Given the description of an element on the screen output the (x, y) to click on. 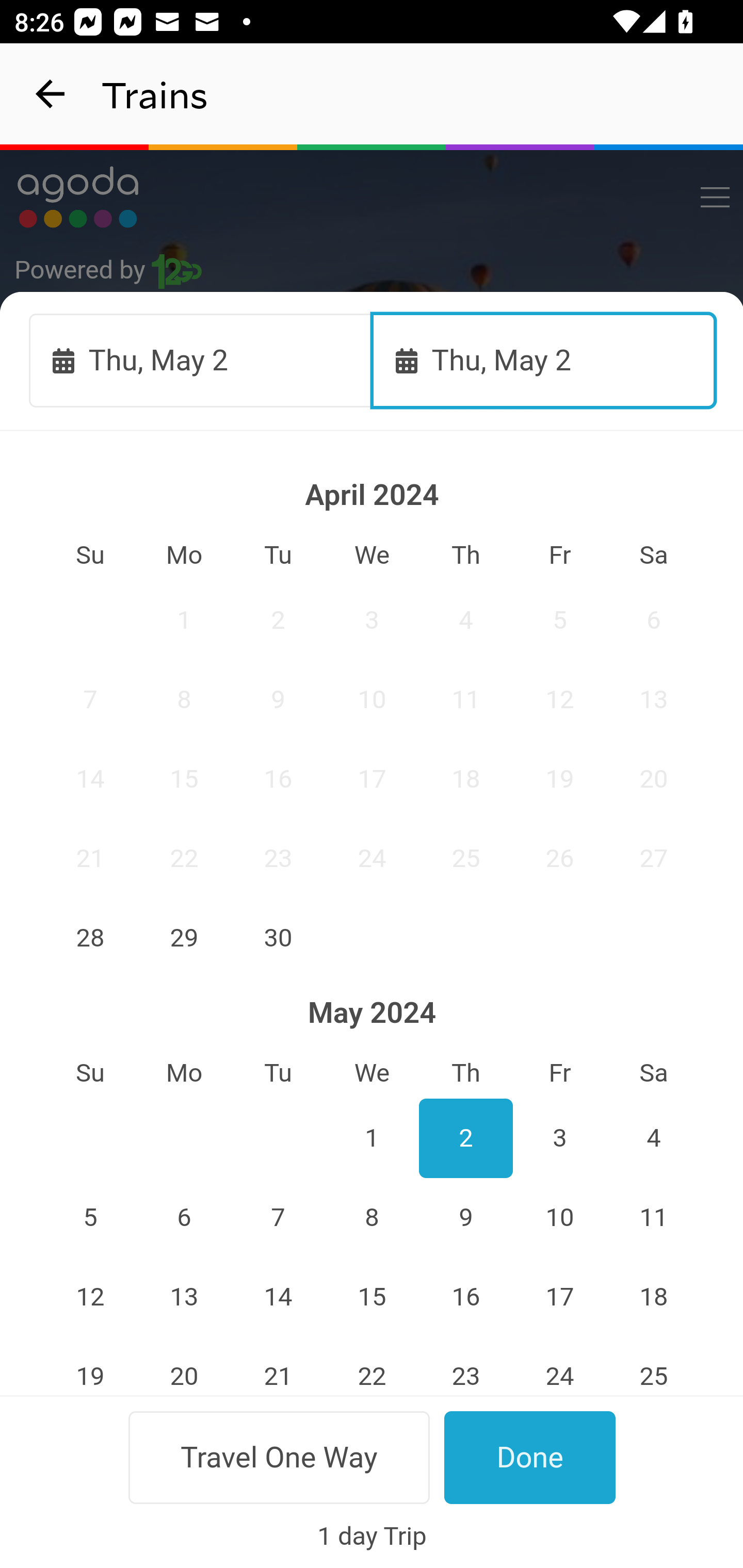
navigation_button (50, 93)
Thu, May 2 (200, 359)
Thu, May 2 (544, 359)
1 (184, 620)
2 (278, 620)
3 (372, 620)
4 (465, 620)
5 (559, 620)
6 (654, 620)
7 (90, 699)
8 (184, 699)
9 (278, 699)
10 (372, 699)
11 (465, 699)
12 (559, 699)
13 (654, 699)
14 (90, 779)
15 (184, 779)
16 (278, 779)
17 (372, 779)
18 (465, 779)
19 (559, 779)
20 (654, 779)
21 (90, 858)
22 (184, 858)
23 (278, 858)
24 (372, 858)
25 (465, 858)
26 (559, 858)
27 (654, 858)
28 (90, 937)
29 (184, 937)
30 (278, 937)
1 (372, 1138)
2 (465, 1138)
3 (559, 1138)
4 (654, 1138)
5 (90, 1218)
6 (184, 1218)
7 (278, 1218)
8 (372, 1218)
9 (465, 1218)
10 (559, 1218)
11 (654, 1218)
12 (90, 1296)
13 (184, 1296)
14 (278, 1296)
15 (372, 1296)
16 (465, 1296)
17 (559, 1296)
18 (654, 1296)
19 (90, 1365)
20 (184, 1365)
21 (278, 1365)
22 (372, 1365)
23 (465, 1365)
24 (559, 1365)
25 (654, 1365)
Done (530, 1457)
26 (90, 1456)
27 (184, 1456)
28 (278, 1456)
29 (372, 1456)
